Given the description of an element on the screen output the (x, y) to click on. 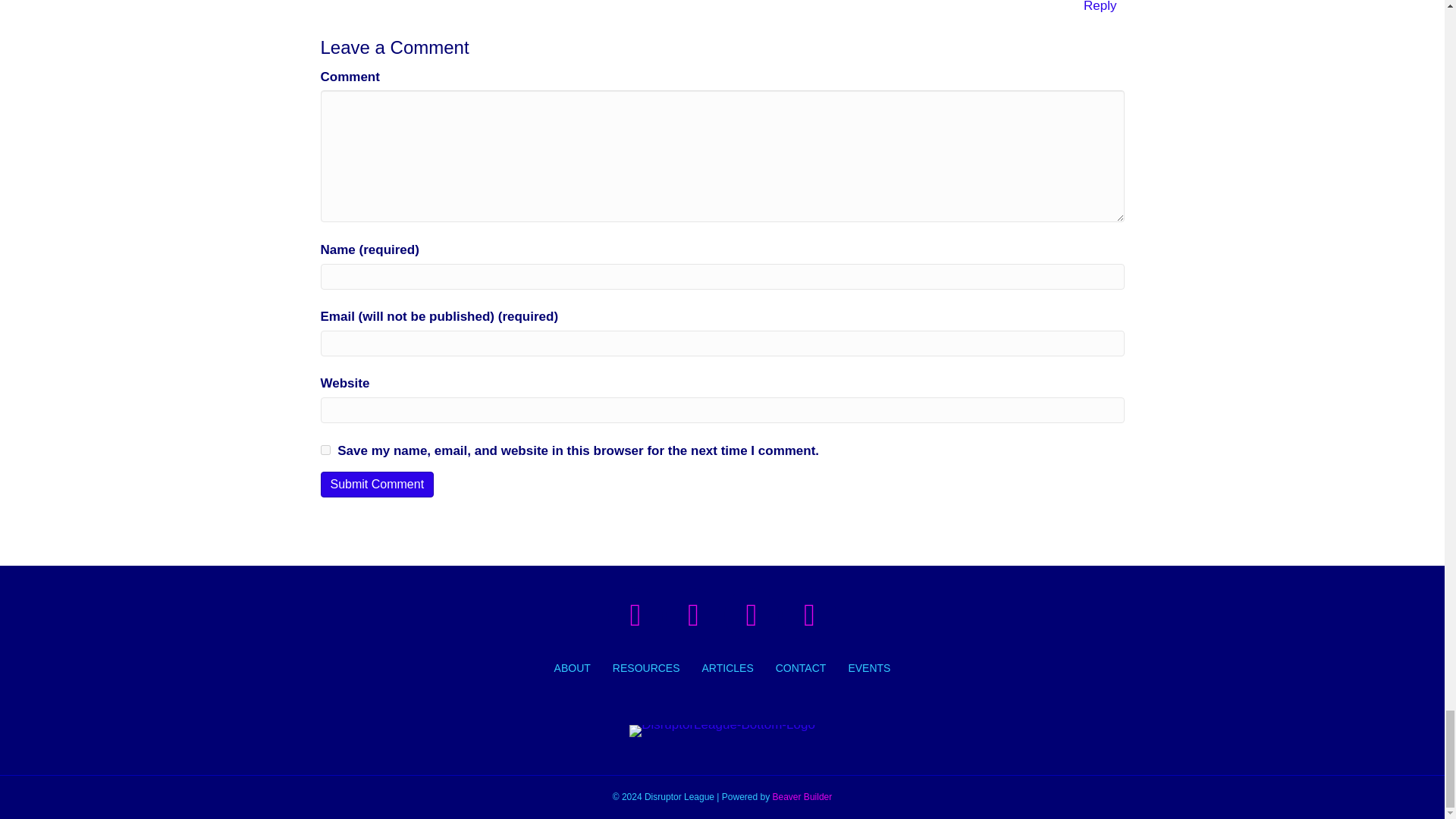
yes (325, 450)
WordPress Page Builder Plugin (802, 796)
DisruptorLeague-Bottom-Logo (721, 730)
Submit Comment (376, 483)
